Given the description of an element on the screen output the (x, y) to click on. 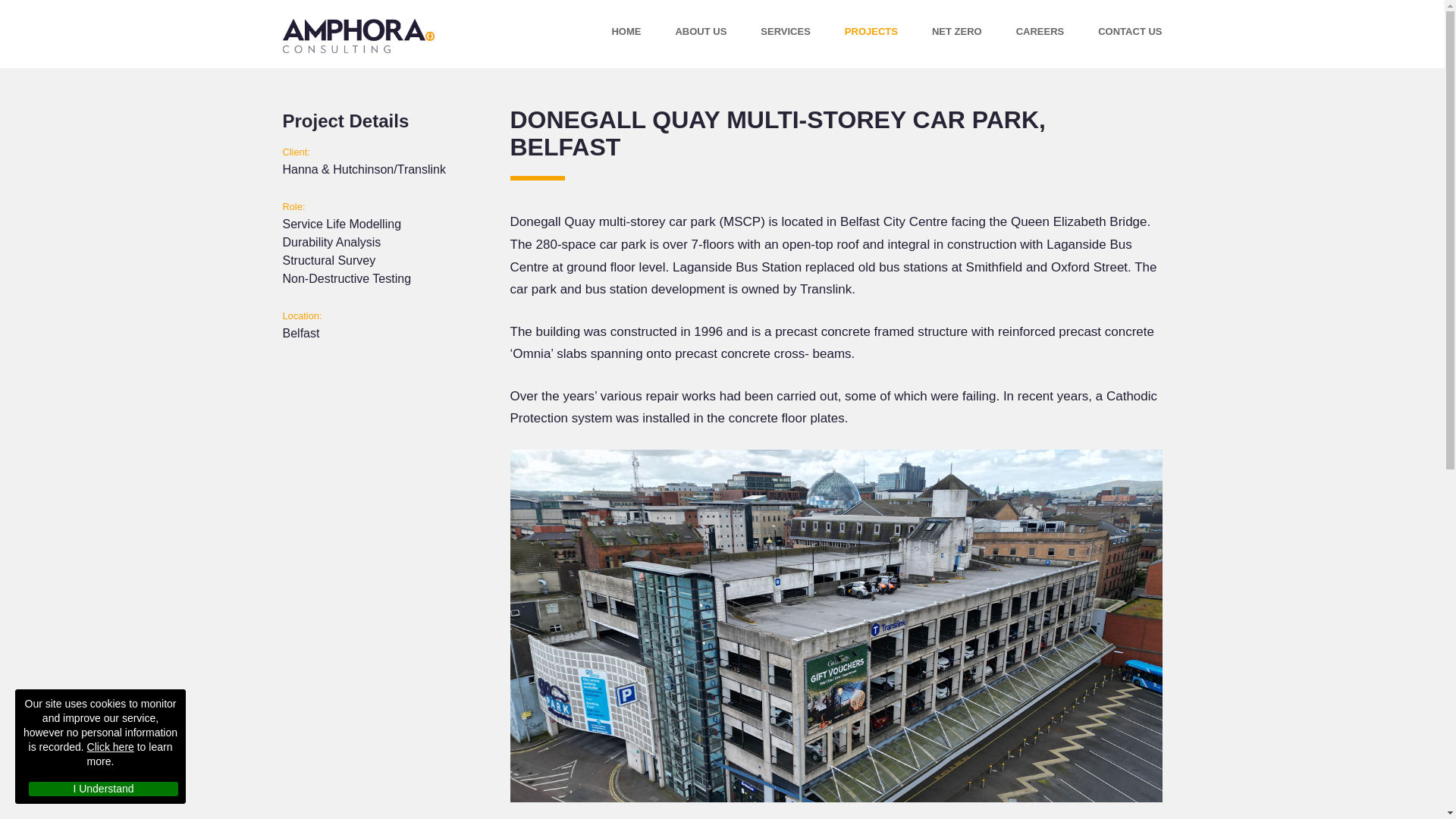
CONTACT US (1129, 28)
PROJECTS (871, 25)
I Understand (103, 789)
CAREERS (1040, 28)
SERVICES (785, 25)
NET ZERO (956, 27)
HOME (625, 22)
ABOUT US (700, 23)
Click here (110, 746)
